Given the description of an element on the screen output the (x, y) to click on. 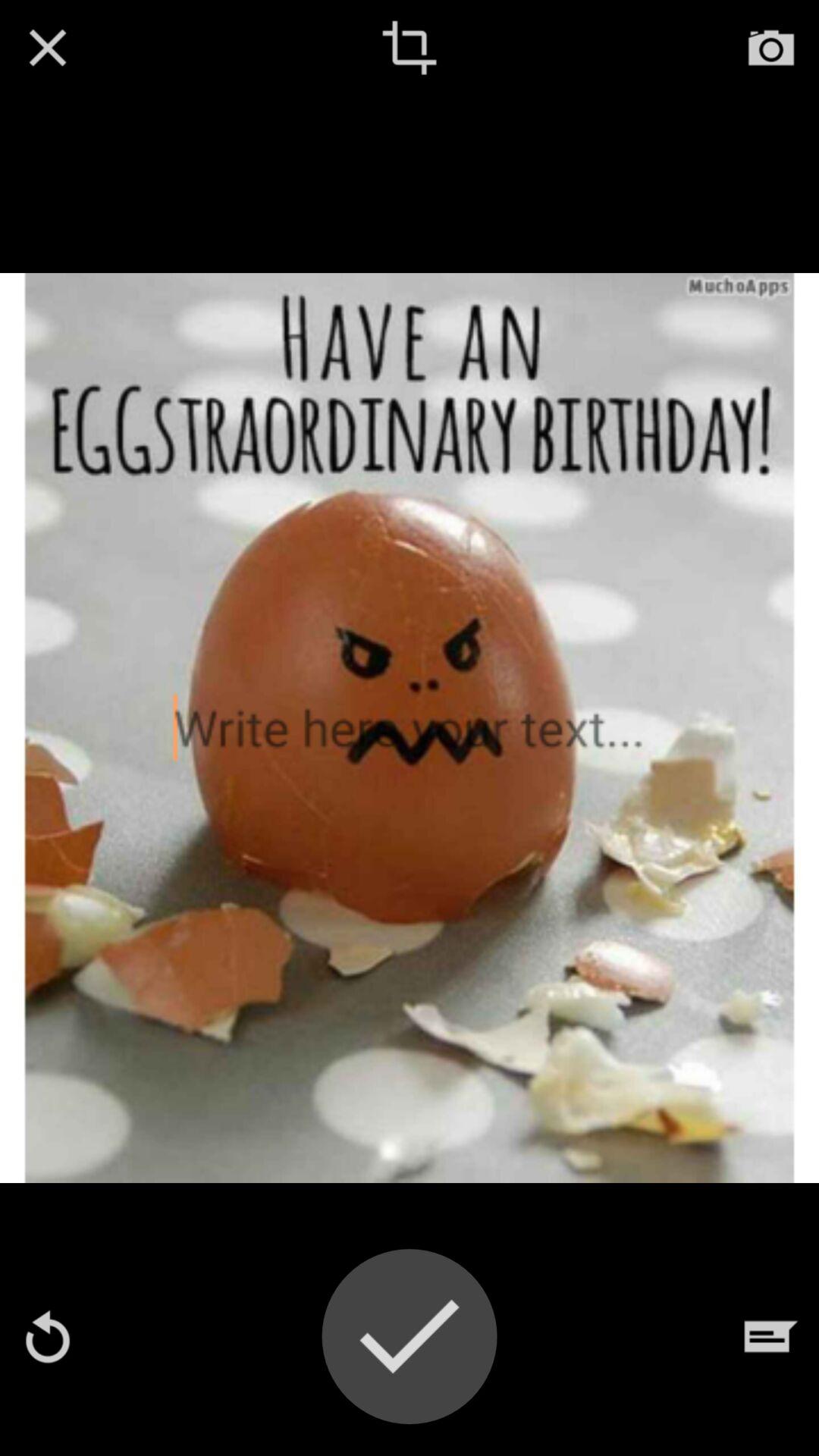
go to cancel (47, 47)
